Given the description of an element on the screen output the (x, y) to click on. 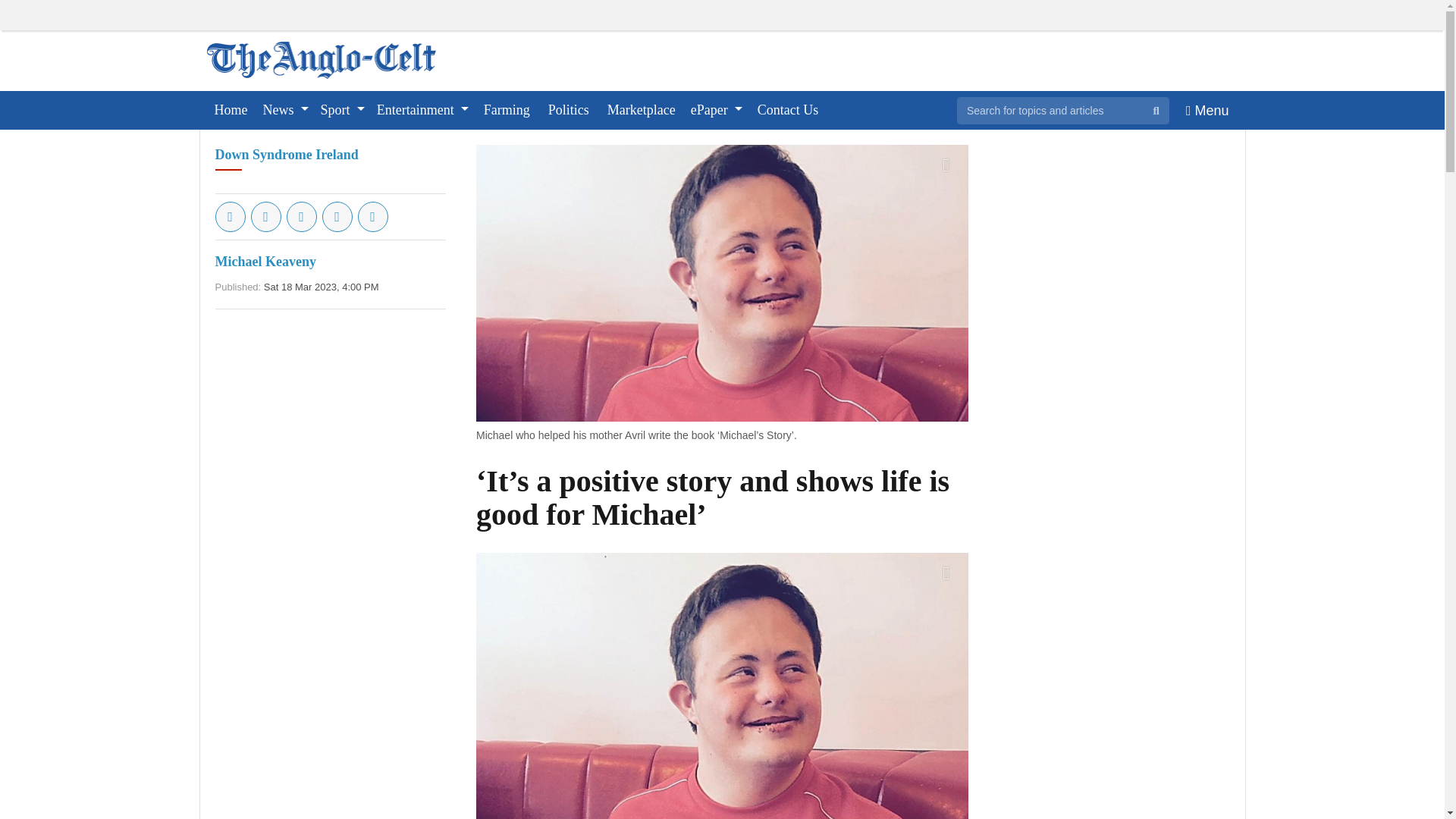
News (285, 109)
ePaper (716, 109)
Entertainment (422, 109)
Sport (342, 109)
Menu (1207, 109)
